Given the description of an element on the screen output the (x, y) to click on. 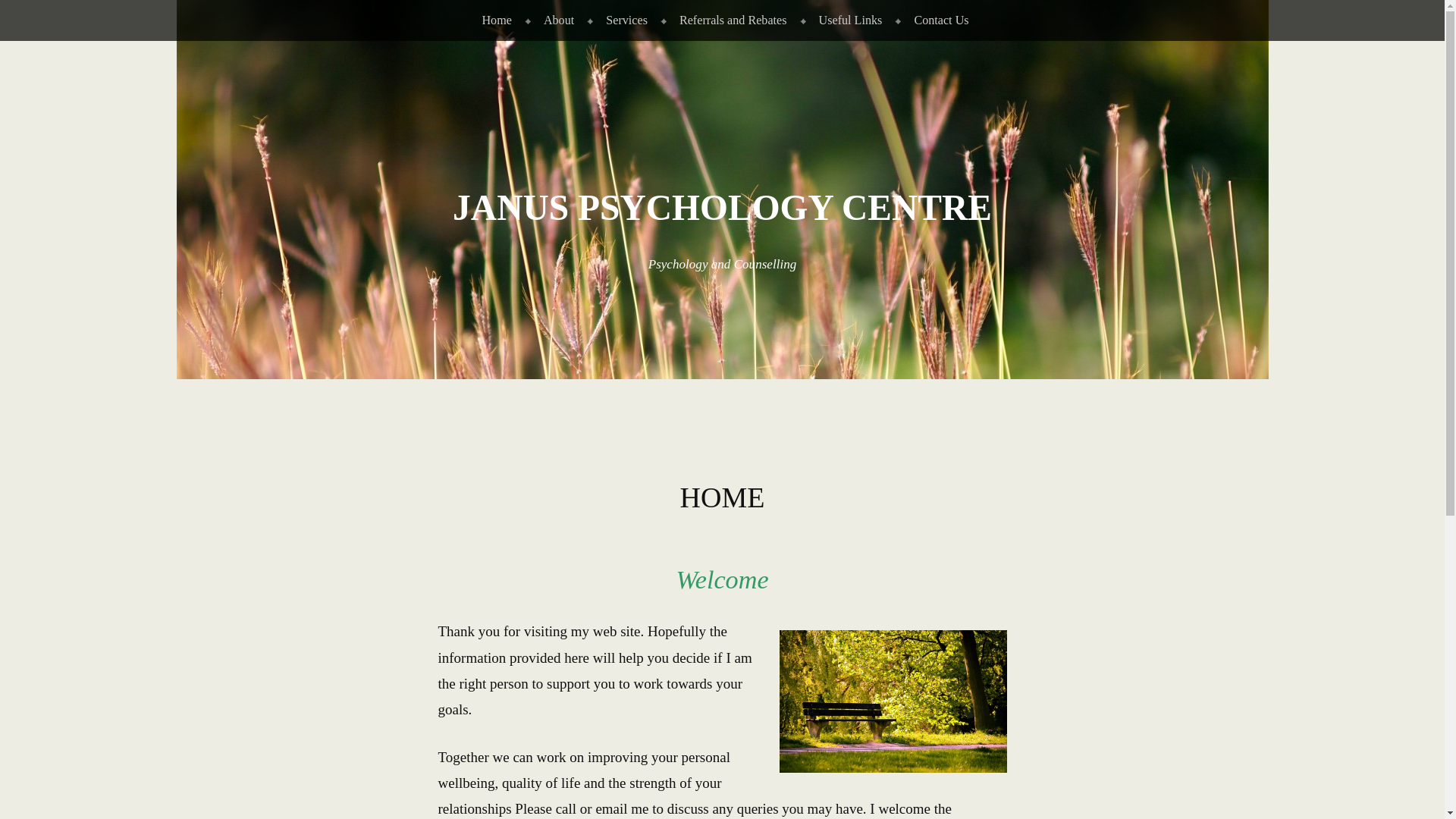
Contact Us Element type: text (937, 20)
JANUS PSYCHOLOGY CENTRE Element type: text (721, 207)
Useful Links Element type: text (847, 20)
Services Element type: text (623, 20)
About Element type: text (555, 20)
Referrals and Rebates Element type: text (730, 20)
Skip to content Element type: text (37, 12)
Home Element type: text (493, 20)
